Given the description of an element on the screen output the (x, y) to click on. 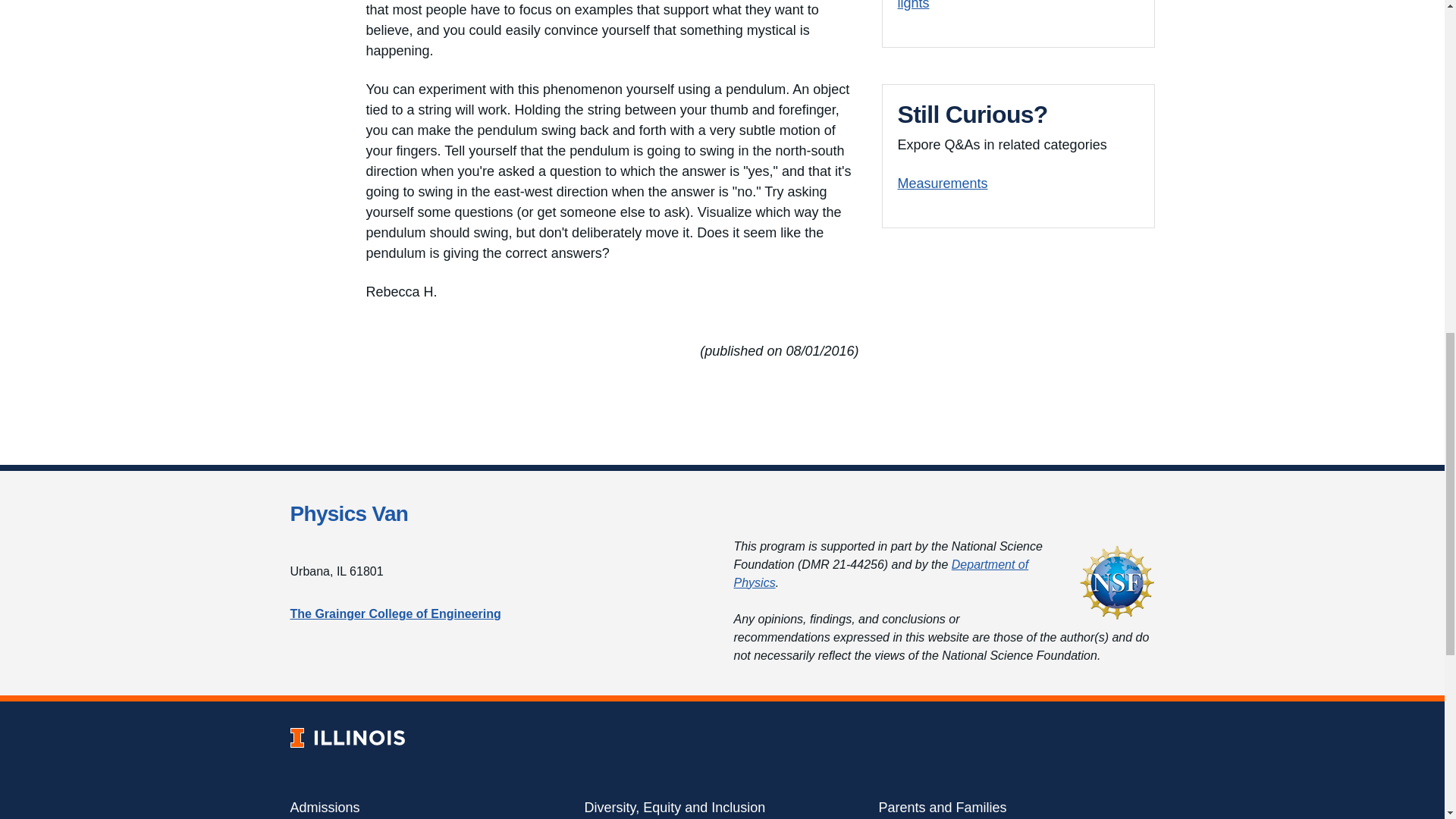
Physics Van (348, 513)
Testing series-wired Christmas tree lights (1004, 5)
Measurements (943, 183)
